Given the description of an element on the screen output the (x, y) to click on. 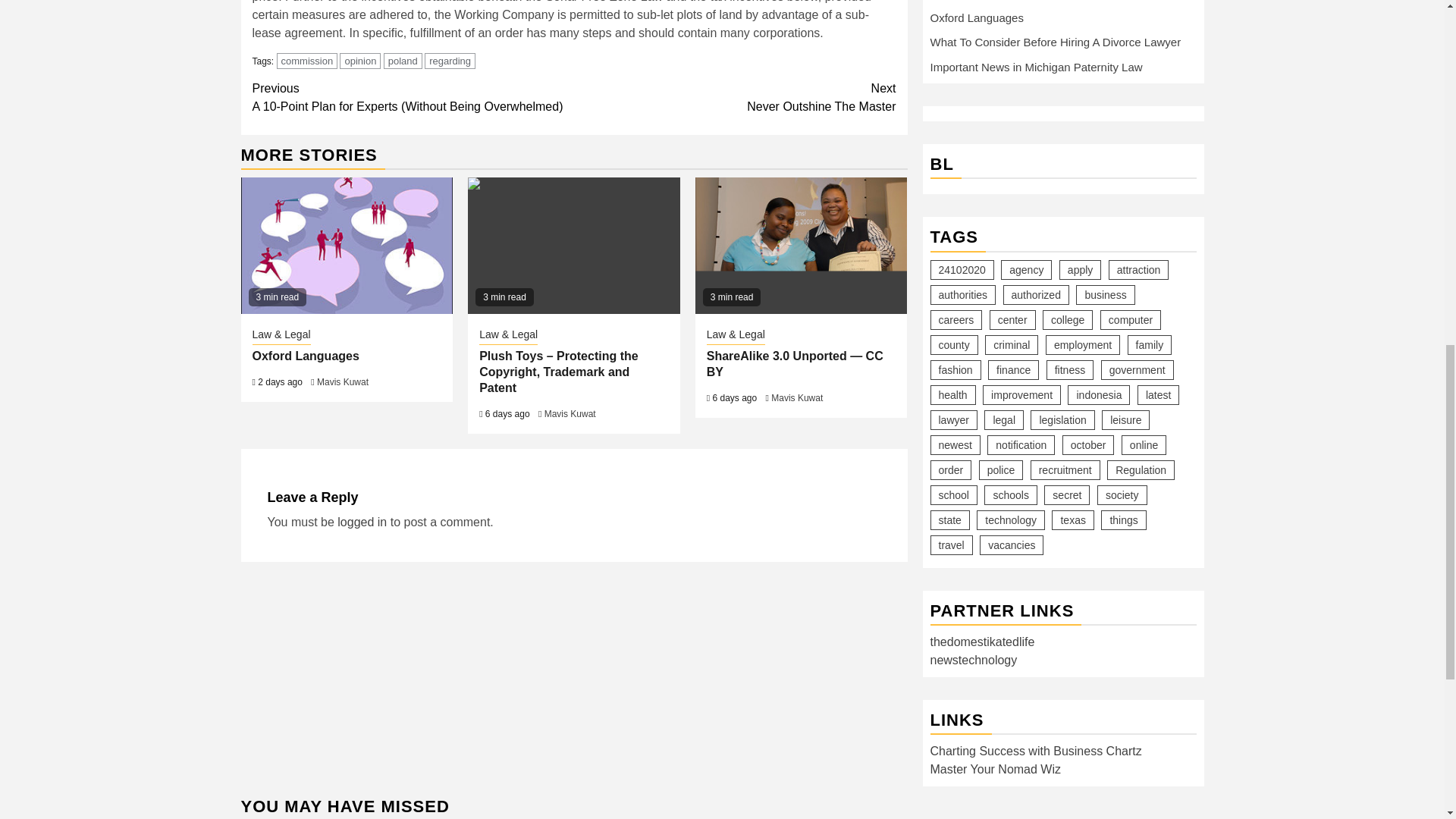
regarding (450, 60)
commission (306, 60)
Oxford Languages (304, 355)
poland (403, 60)
Mavis Kuwat (734, 97)
opinion (342, 381)
Mavis Kuwat (359, 60)
Oxford Languages (796, 398)
Mavis Kuwat (346, 245)
